Given the description of an element on the screen output the (x, y) to click on. 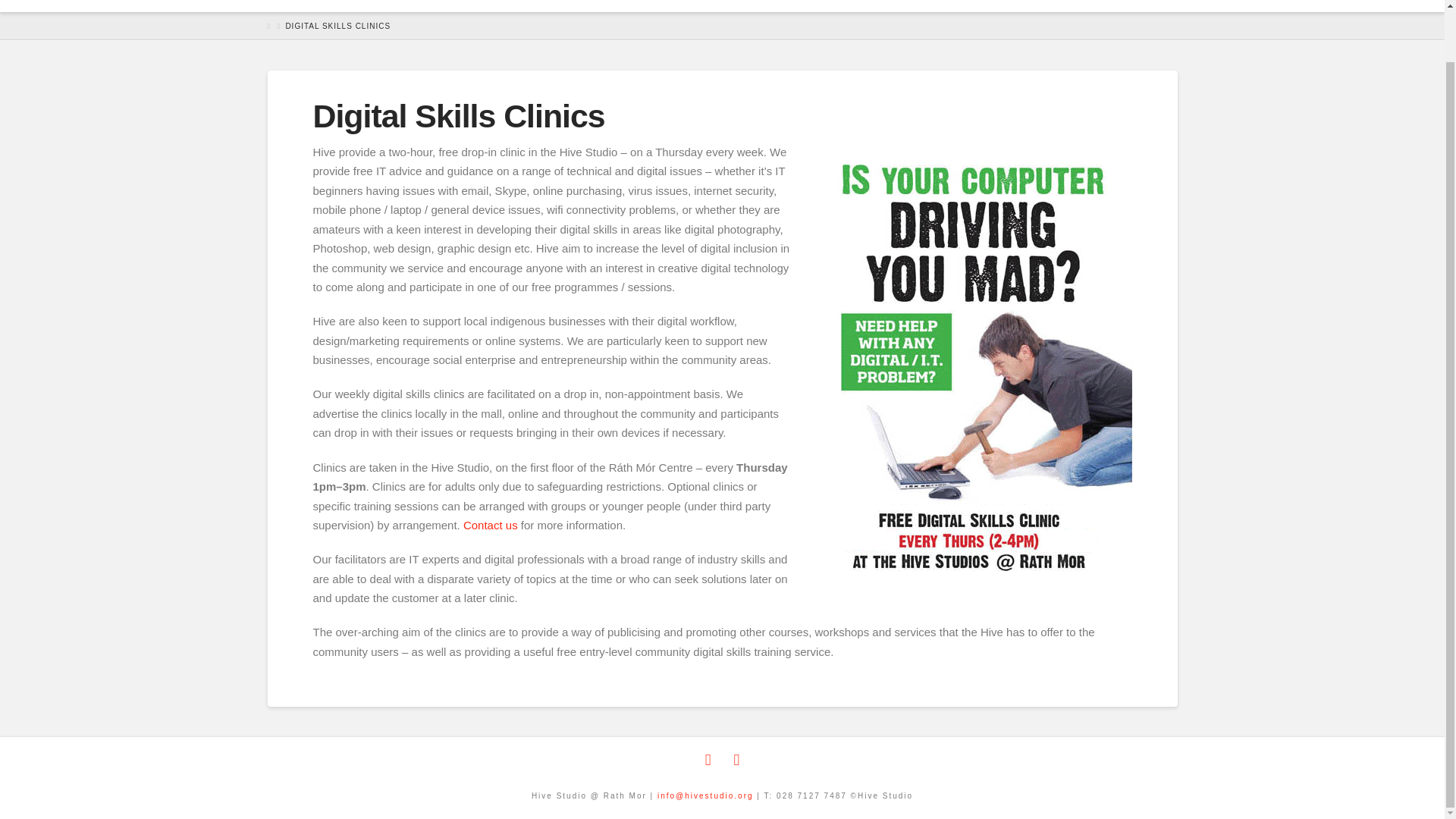
ABOUT (505, 6)
HOME (434, 6)
CONTACT US (1077, 6)
Contact us (490, 524)
SERVICES (594, 6)
Digital Creativity in the Community (304, 0)
EVENTS (687, 6)
Enquiry (490, 524)
FACILITIES (778, 6)
